Given the description of an element on the screen output the (x, y) to click on. 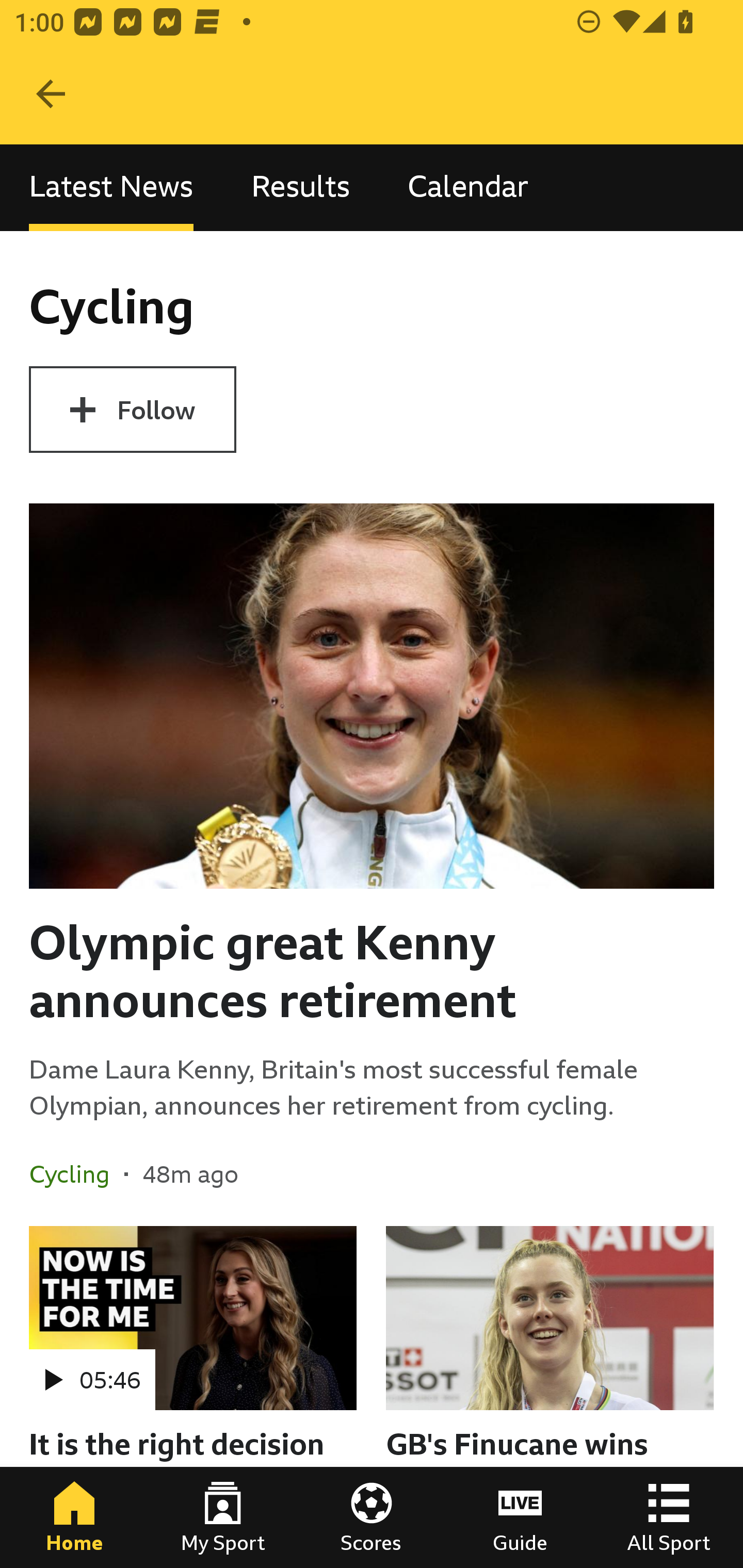
Navigate up (50, 93)
Latest News, selected Latest News (111, 187)
Results (300, 187)
Calendar (467, 187)
Follow Cycling Follow (132, 409)
My Sport (222, 1517)
Scores (371, 1517)
Guide (519, 1517)
All Sport (668, 1517)
